Given the description of an element on the screen output the (x, y) to click on. 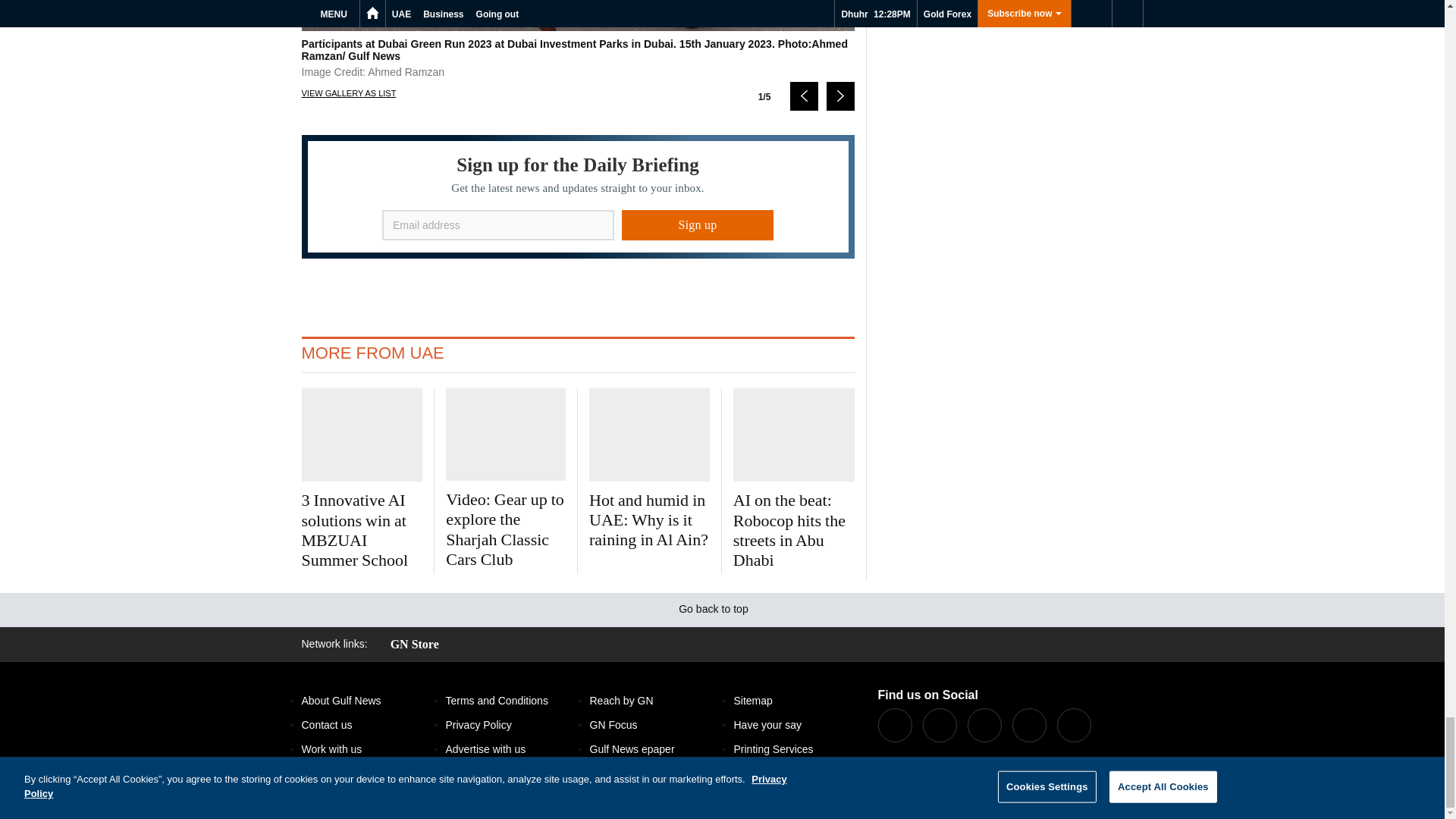
Sign up for the Daily Briefing (577, 196)
